Given the description of an element on the screen output the (x, y) to click on. 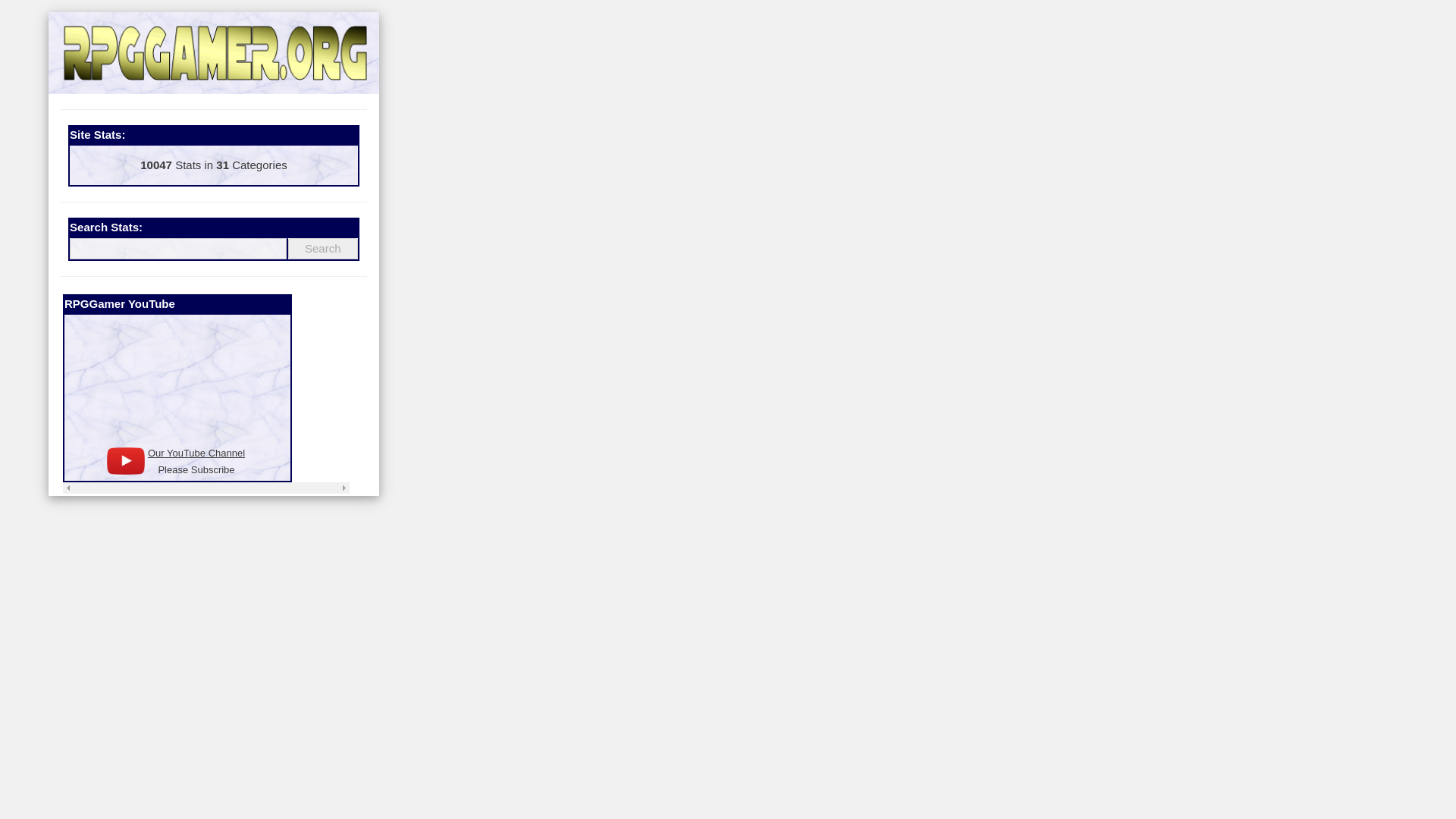
Search (323, 249)
Search (323, 249)
Our YouTube Channel (196, 452)
